Given the description of an element on the screen output the (x, y) to click on. 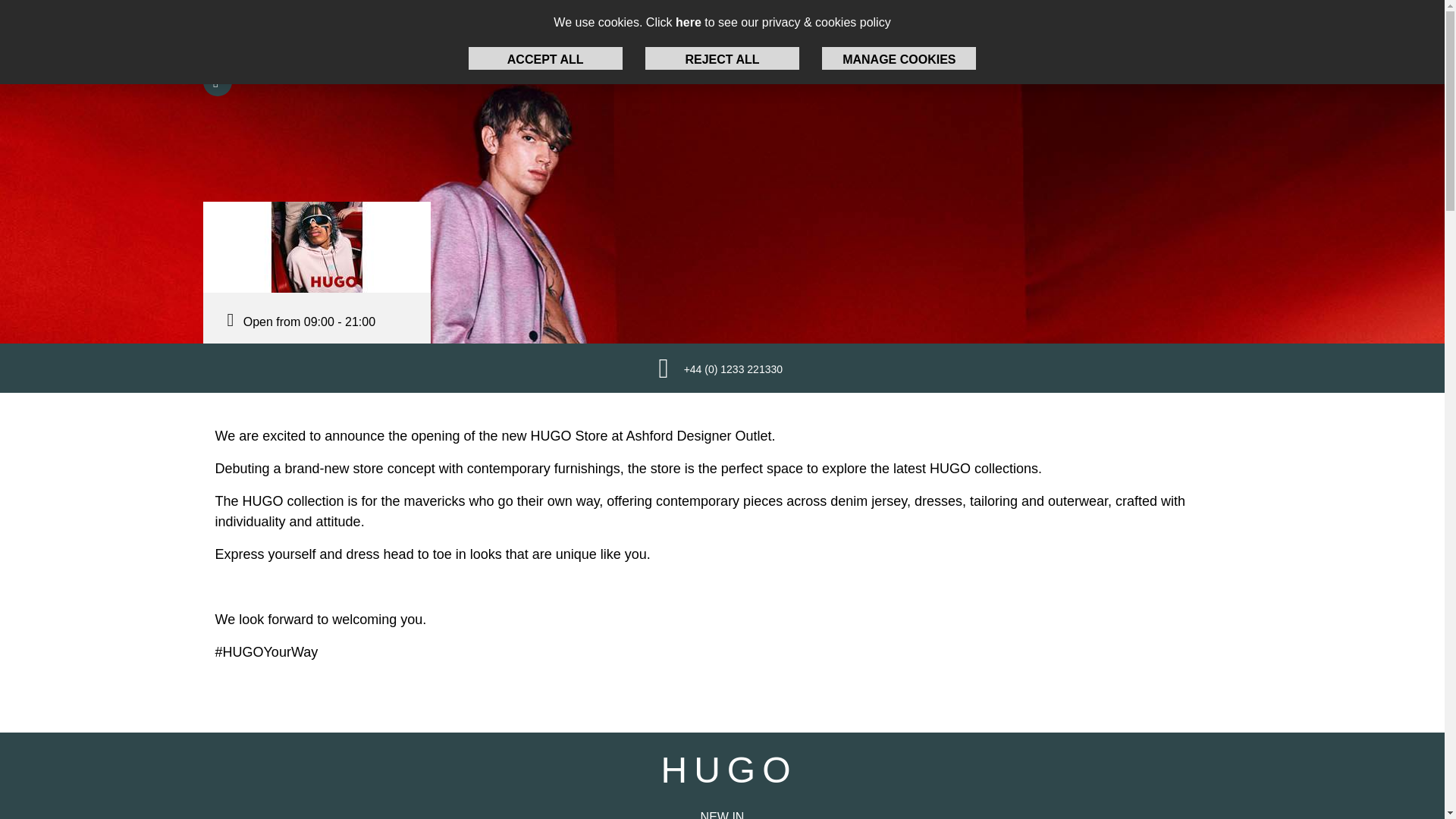
Restaurants (979, 27)
What's On (883, 27)
Plan Your Visit (108, 27)
Offers (778, 27)
Stores (687, 27)
